Given the description of an element on the screen output the (x, y) to click on. 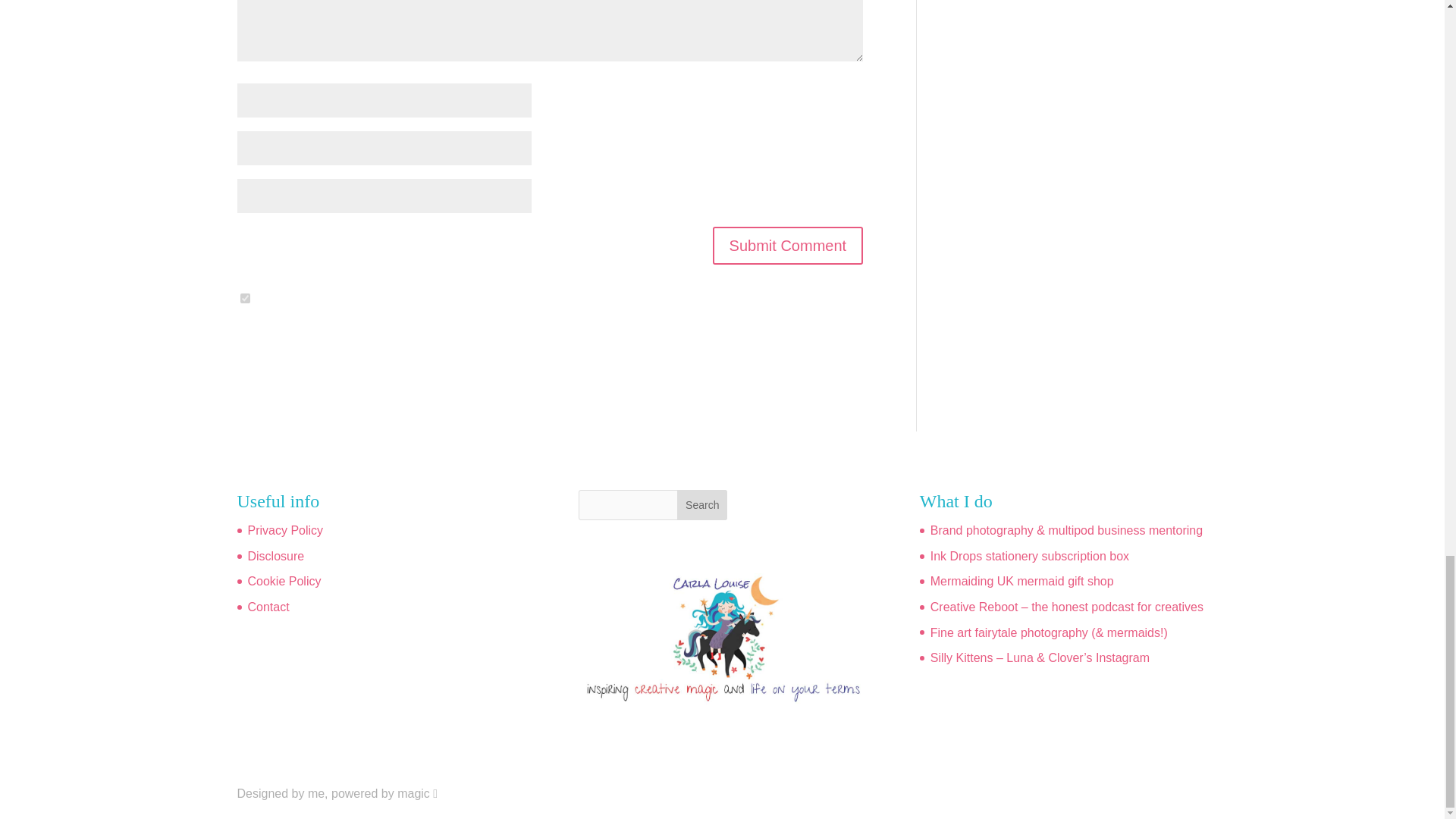
Submit Comment (788, 245)
Submit Comment (788, 245)
on (244, 298)
